Given the description of an element on the screen output the (x, y) to click on. 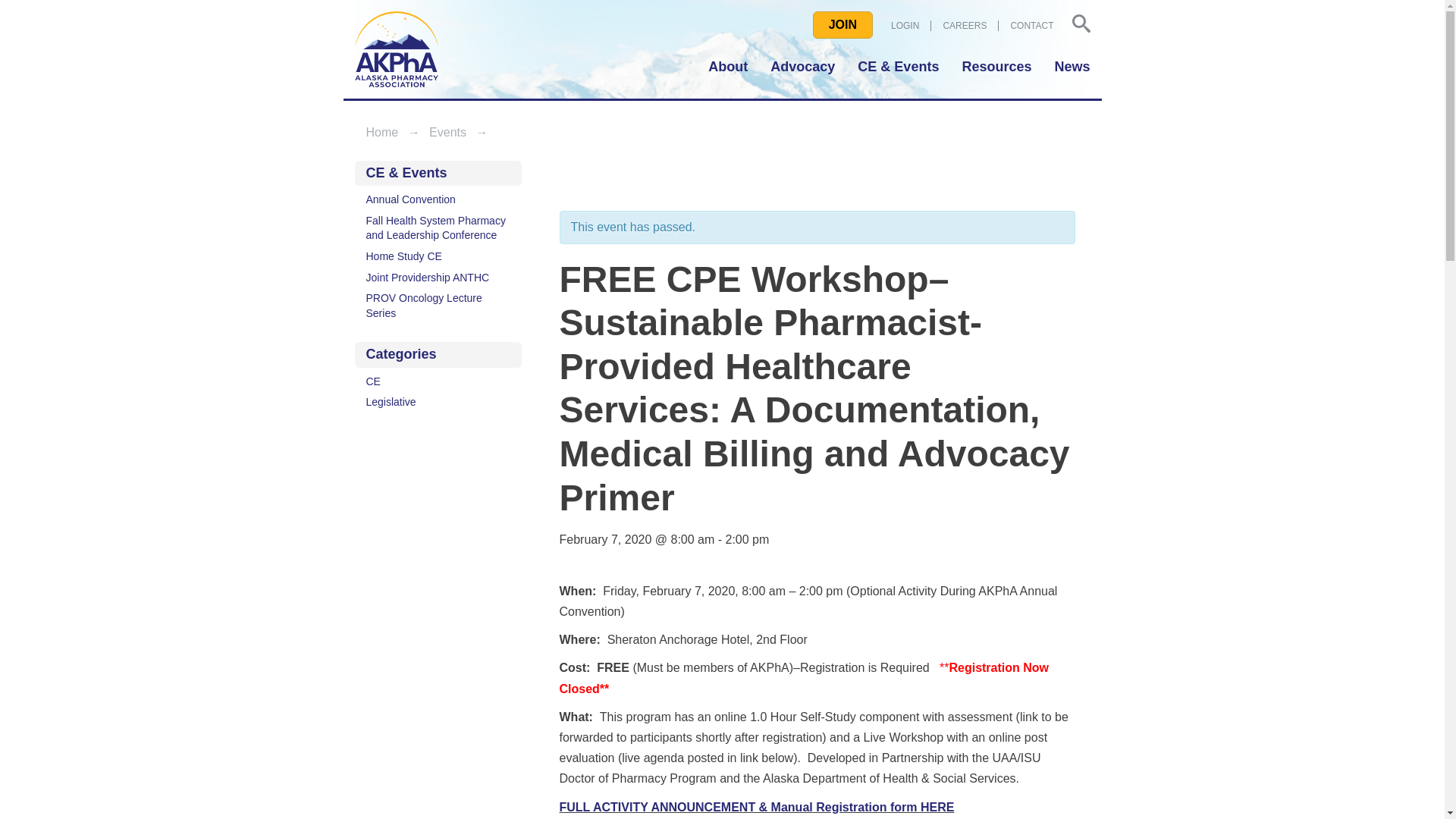
News (1065, 66)
LOGIN (904, 25)
Joint Providership ANTHC (438, 278)
JOIN (842, 24)
About (732, 66)
Home (381, 132)
Events (447, 132)
CONTACT (1024, 25)
Resources (996, 66)
PROV Oncology Lecture Series (438, 305)
Annual Convention (438, 199)
Home Study CE (438, 256)
Fall Health System Pharmacy and Leadership Conference (438, 228)
Categories (438, 354)
CAREERS (958, 25)
